Given the description of an element on the screen output the (x, y) to click on. 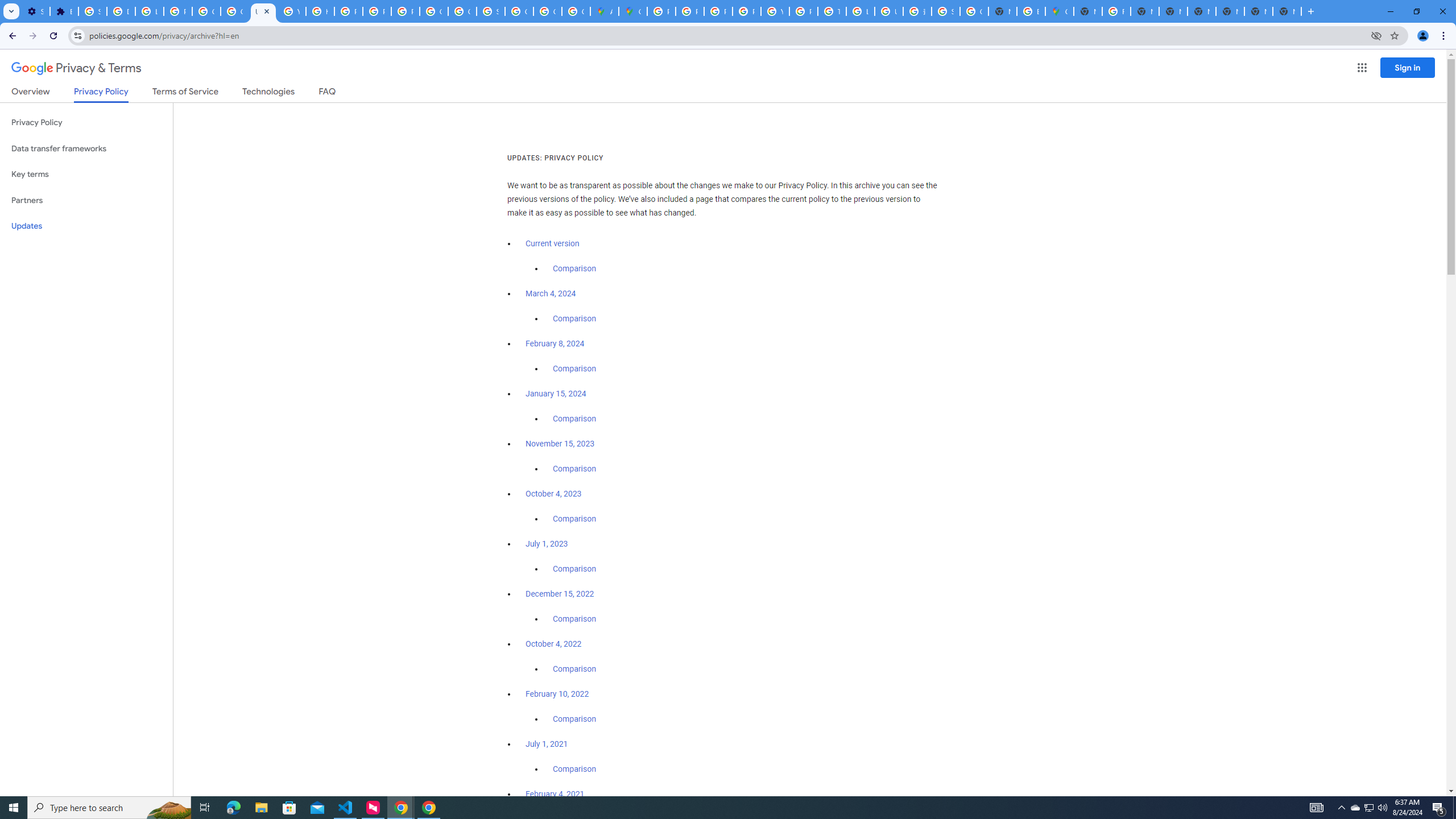
Sign in - Google Accounts (92, 11)
New Tab (1088, 11)
Data transfer frameworks (86, 148)
Sign in - Google Accounts (490, 11)
Extensions (63, 11)
New Tab (1230, 11)
Create your Google Account (575, 11)
Comparison (574, 768)
Policy Accountability and Transparency - Transparency Center (661, 11)
Google Account Help (206, 11)
